Given the description of an element on the screen output the (x, y) to click on. 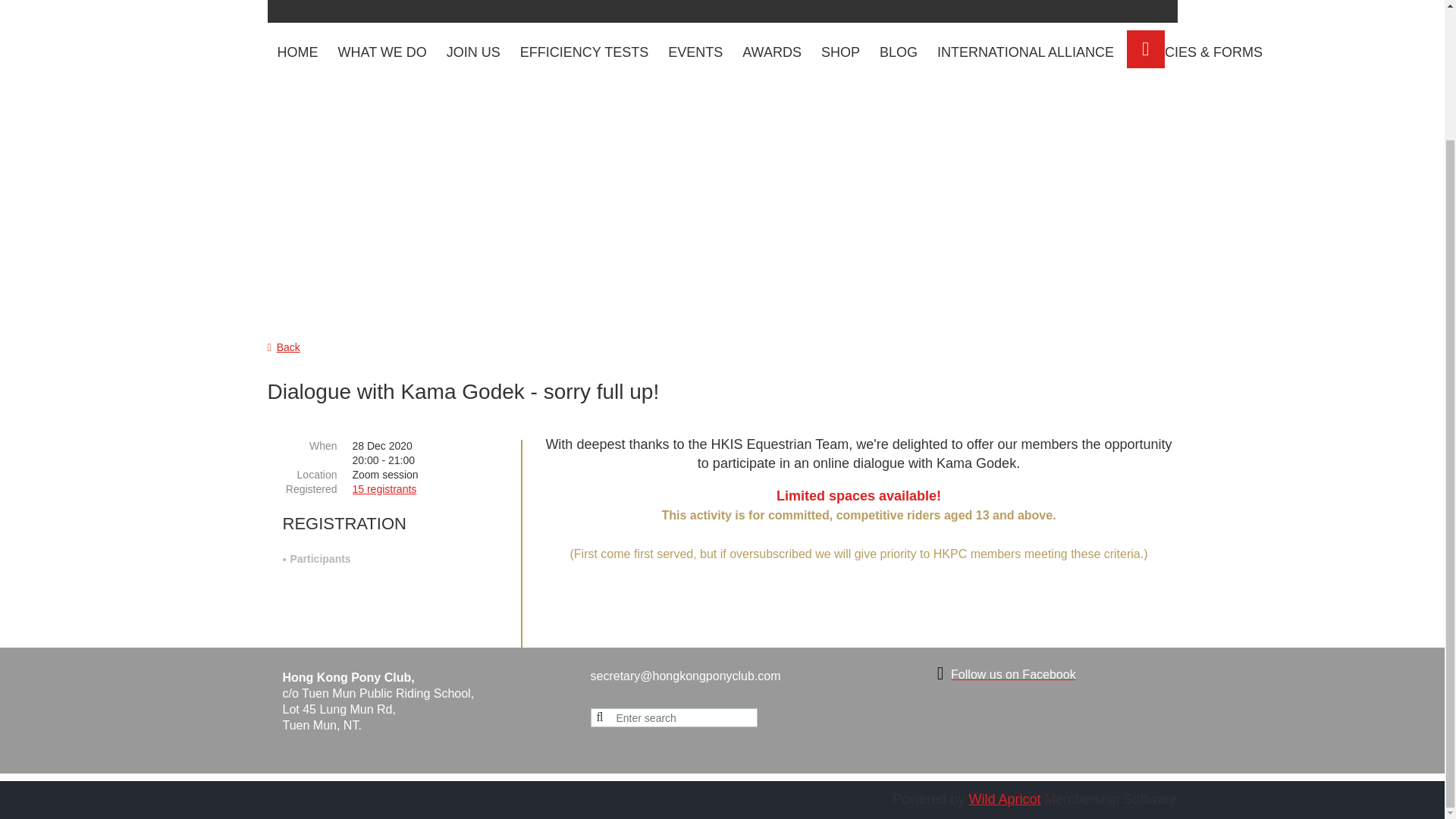
Events (695, 52)
JOIN US (473, 52)
Join us (473, 52)
Wild Apricot (1004, 798)
Efficiency Tests (584, 52)
Home (296, 52)
Follow us on Facebook (1012, 673)
Awards (771, 52)
What We Do (381, 52)
EVENTS (695, 52)
